Given the description of an element on the screen output the (x, y) to click on. 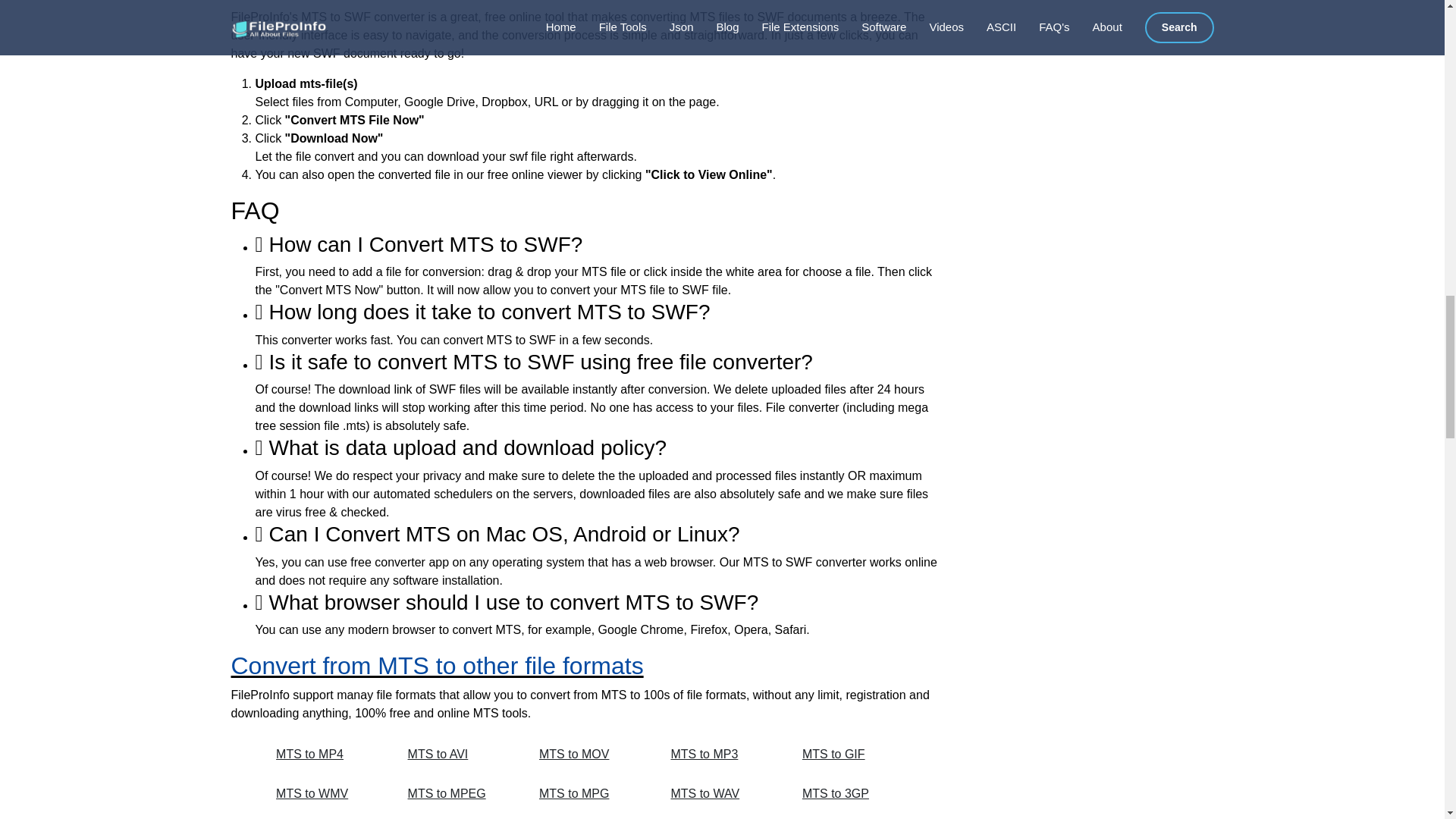
MTS to MOV (587, 754)
Convert from MTS to other file formats (436, 665)
MTS to GIF (851, 754)
MTS to MP3 (719, 754)
MTS to MPEG (456, 793)
MTS to AVI (456, 754)
MTS to MP4 (325, 754)
MTS to WMV (325, 793)
